Given the description of an element on the screen output the (x, y) to click on. 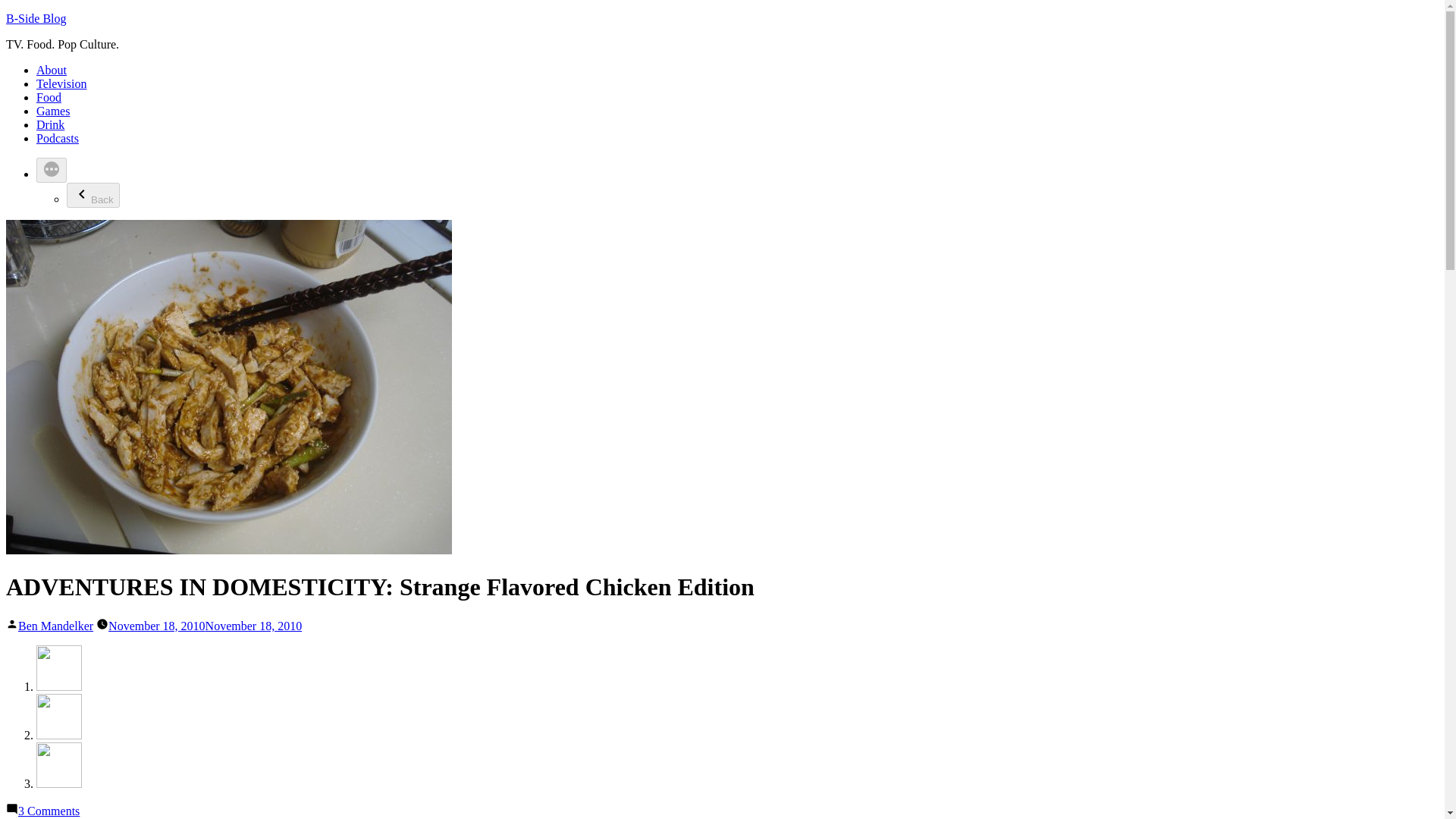
Drink (50, 124)
Food (48, 97)
Television (60, 83)
Back (92, 195)
TV (60, 83)
Podcasts (57, 137)
Ben Mandelker (55, 625)
Games (52, 110)
Drink (50, 124)
About (51, 69)
B-Side Blog (35, 18)
November 18, 2010November 18, 2010 (204, 625)
Food (48, 97)
